Given the description of an element on the screen output the (x, y) to click on. 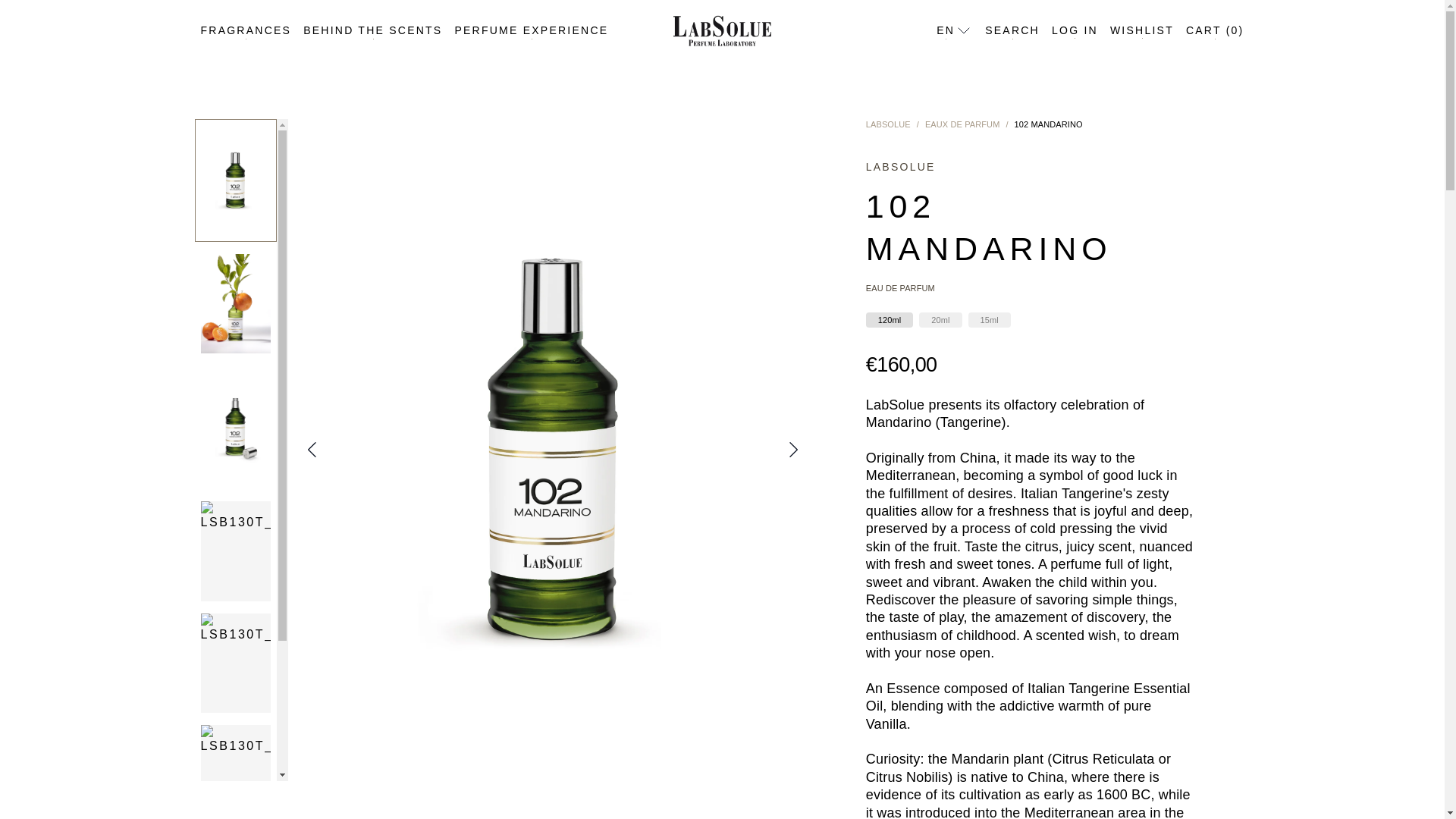
Log in (1074, 30)
LabSolue (888, 123)
Wishlist (1141, 30)
EAUX DE PARFUM (962, 123)
LabSolue (721, 30)
